Given the description of an element on the screen output the (x, y) to click on. 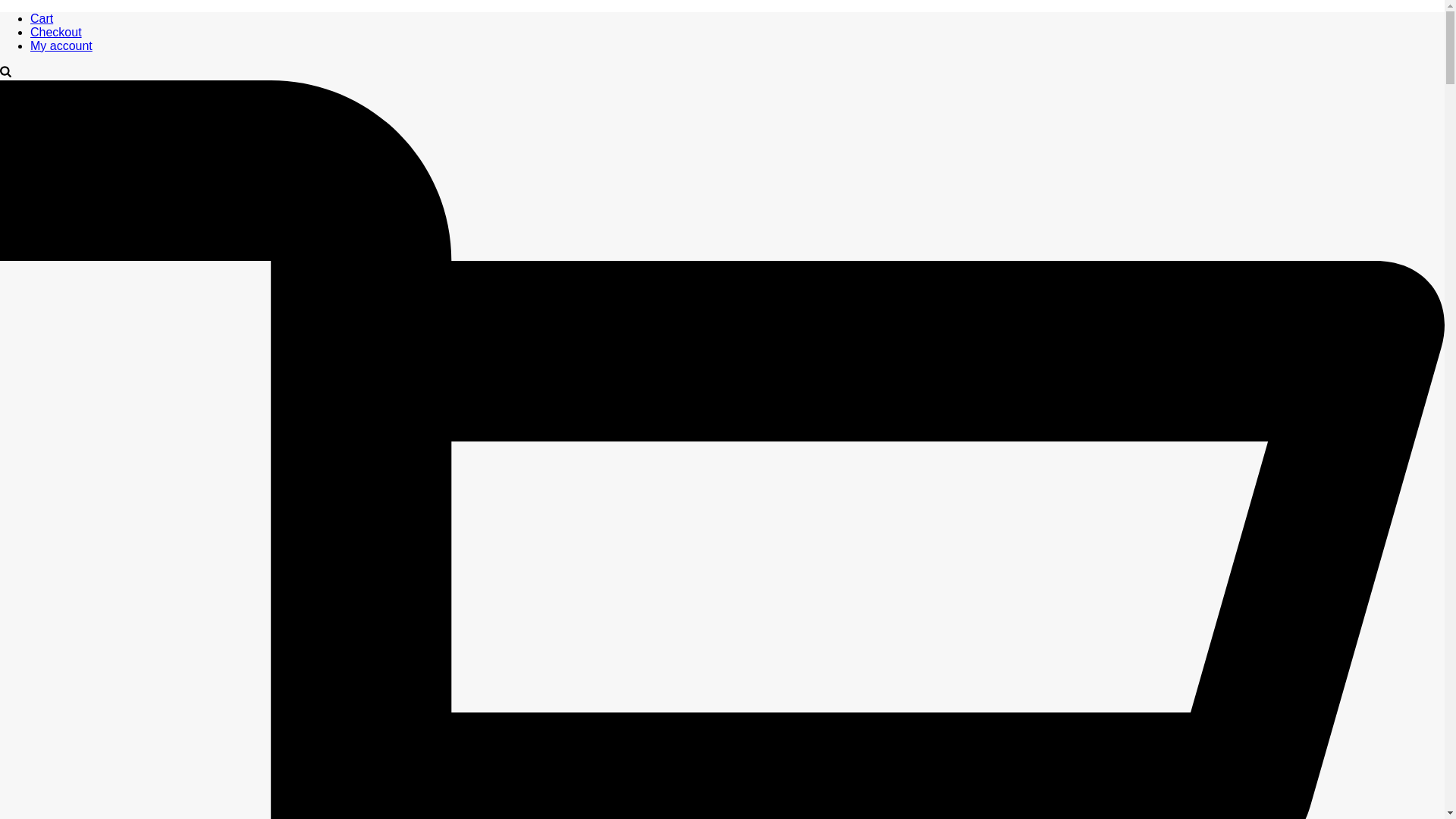
Cart (41, 18)
My account (61, 45)
Checkout (55, 31)
My account (61, 45)
Checkout (55, 31)
Cart (41, 18)
